Given the description of an element on the screen output the (x, y) to click on. 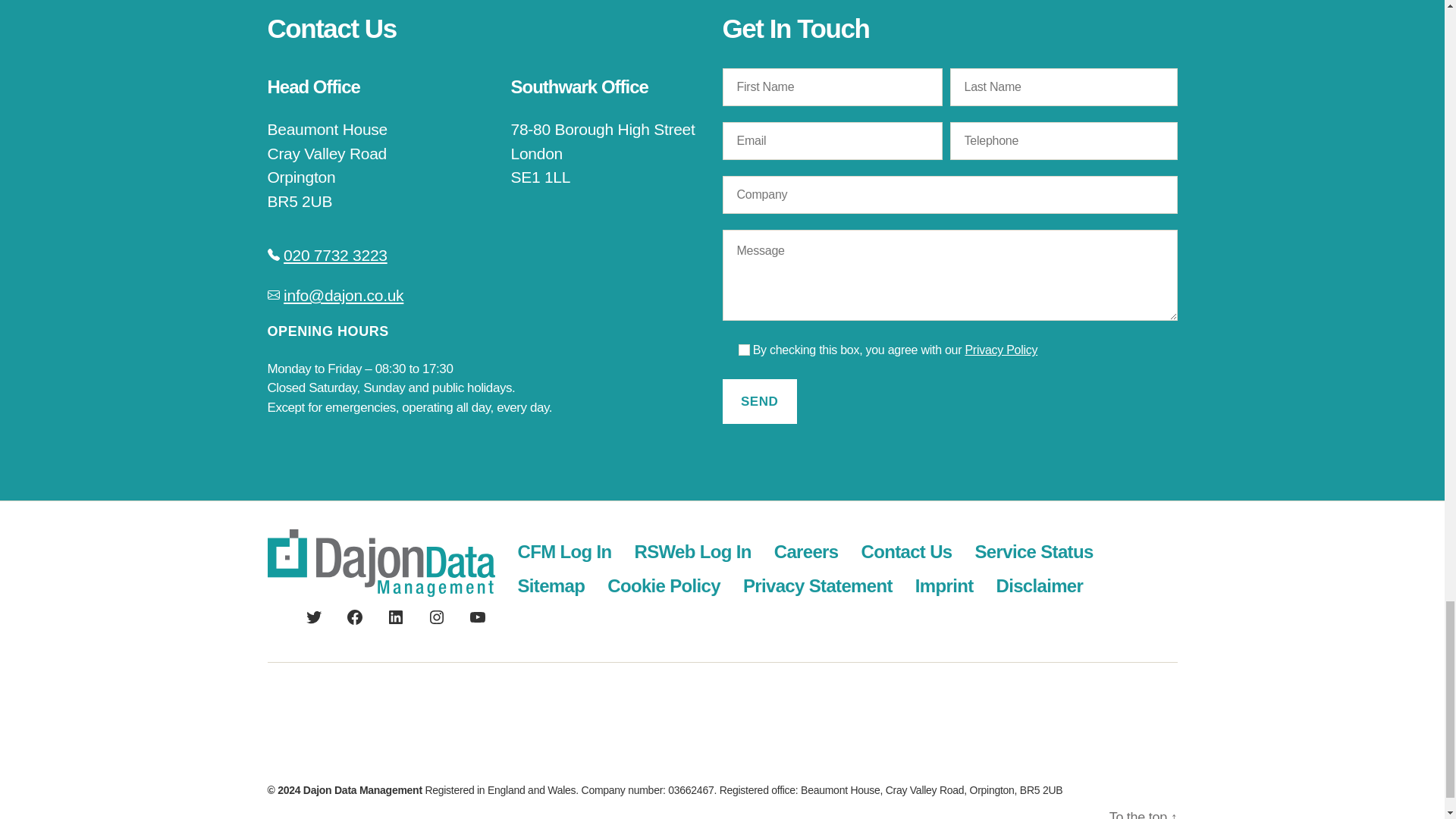
1 (743, 349)
Send (759, 401)
